Given the description of an element on the screen output the (x, y) to click on. 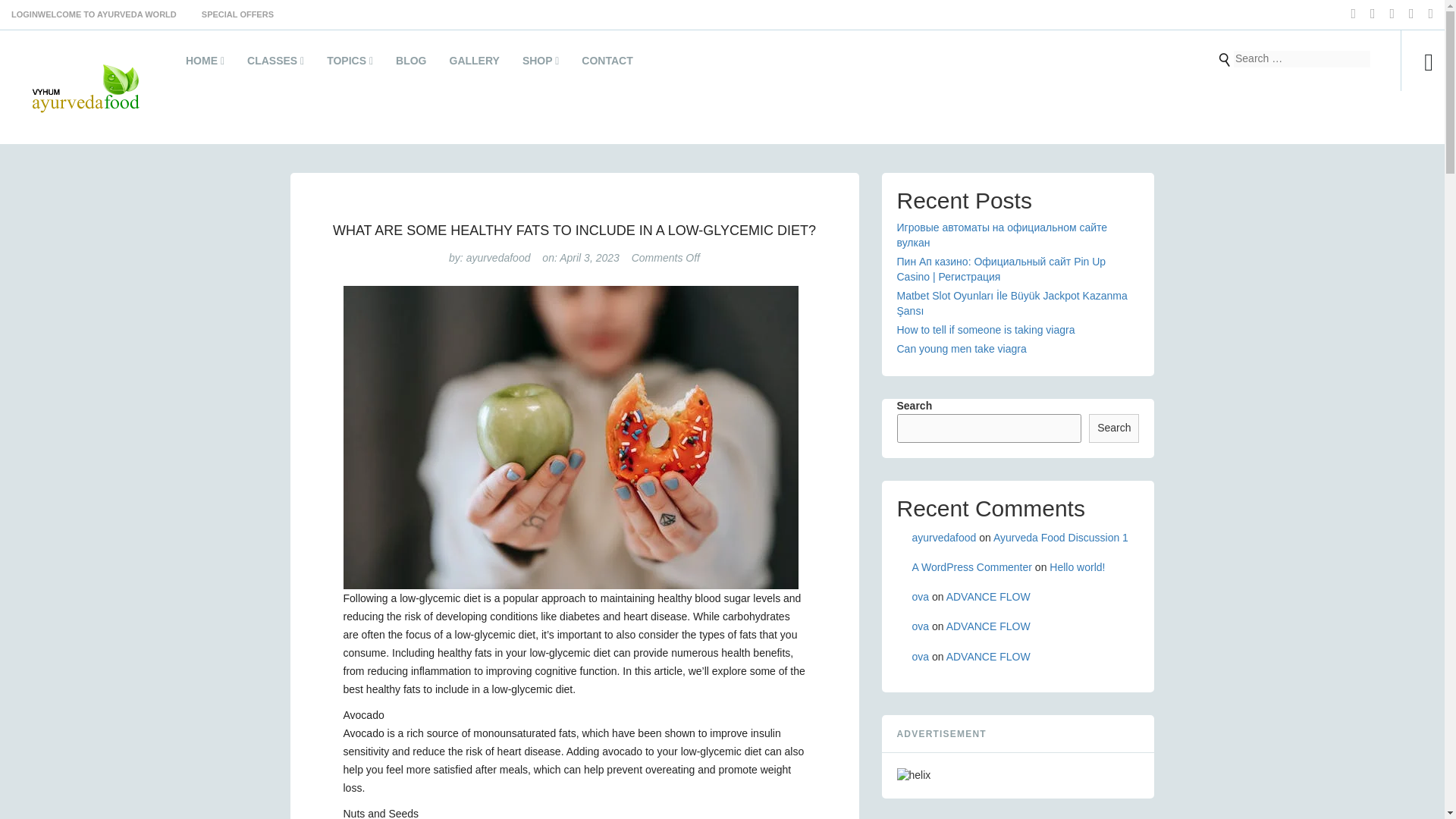
Hello world! (1077, 567)
SHOP (540, 64)
BLOG (411, 64)
SPECIAL OFFERS (226, 13)
CONTACT (606, 64)
Ayurveda Food Discussion 1 (1060, 537)
Search (1224, 59)
Home (204, 64)
ADVANCE FLOW (988, 625)
ova (919, 625)
